Given the description of an element on the screen output the (x, y) to click on. 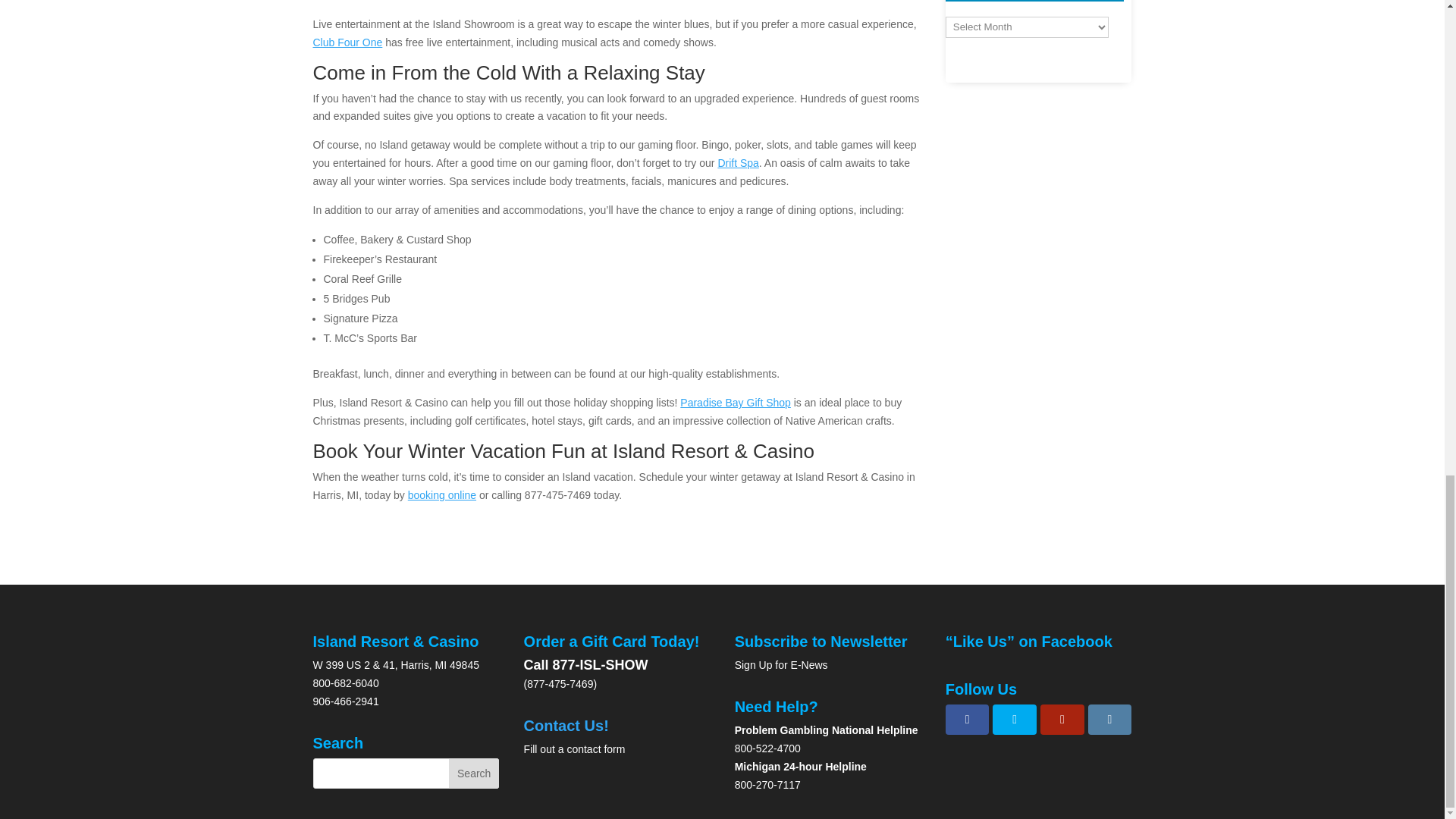
Search (473, 773)
